Given the description of an element on the screen output the (x, y) to click on. 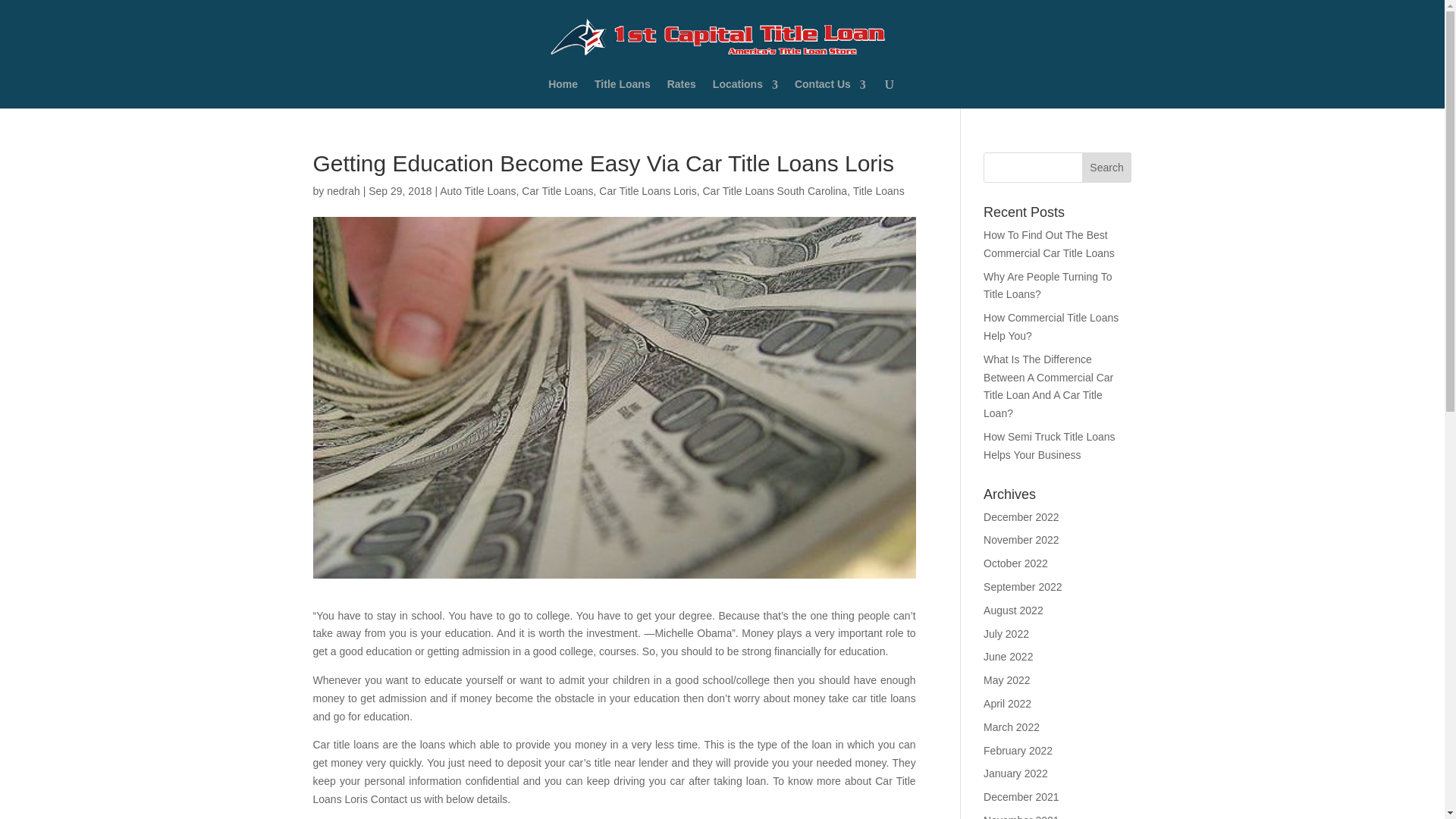
Rates (680, 94)
Car Title Loans Loris (646, 191)
How Commercial Title Loans Help You? (1051, 327)
Search (1106, 167)
Posts by nedrah (342, 191)
Title Loans (878, 191)
How To Find Out The Best Commercial Car Title Loans (1049, 244)
Why Are People Turning To Title Loans? (1048, 286)
nedrah (342, 191)
Search (1106, 167)
Locations (745, 94)
Car Title Loans South Carolina (774, 191)
Title Loans (622, 94)
Car Title Loans (556, 191)
